Given the description of an element on the screen output the (x, y) to click on. 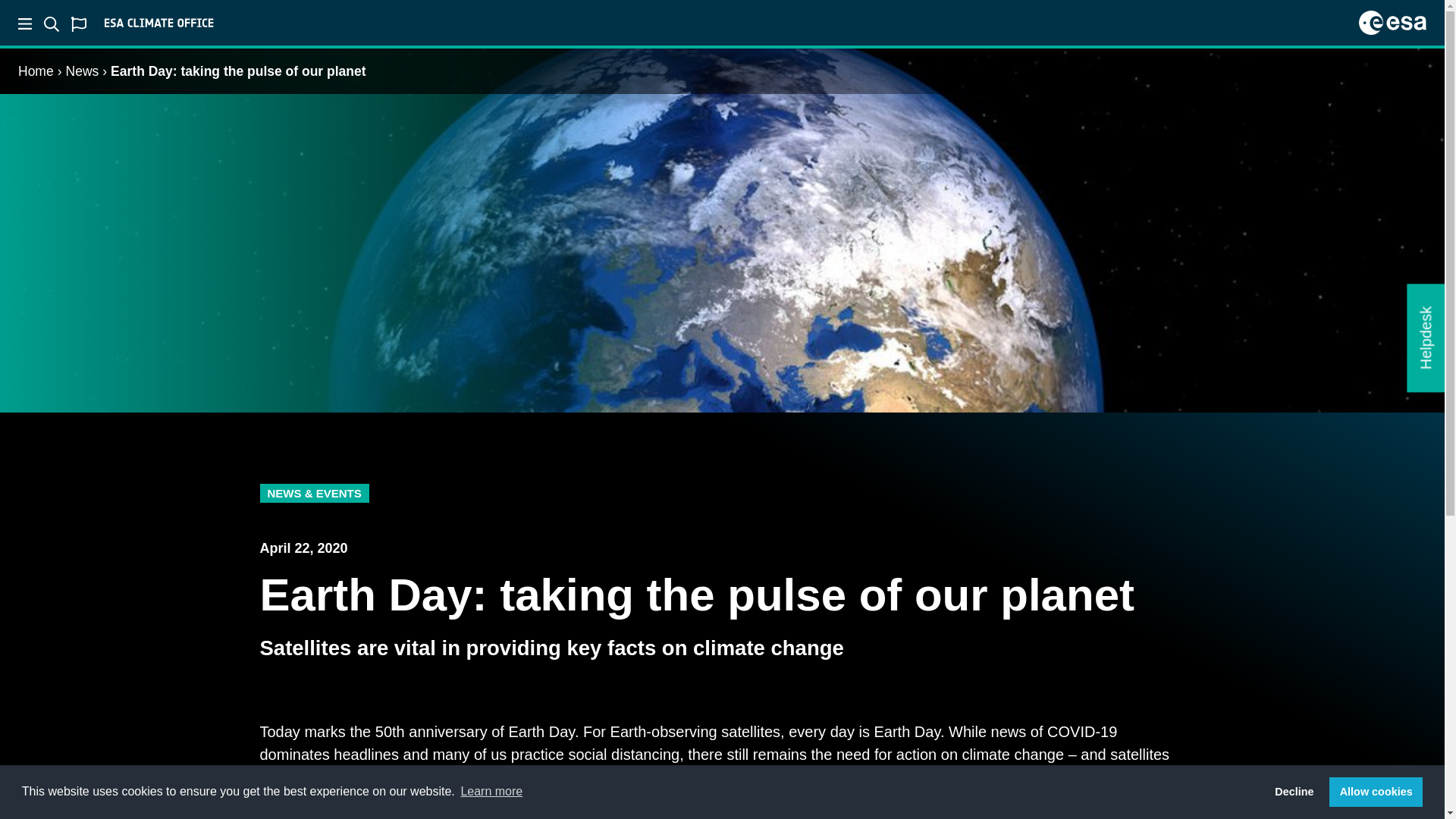
Earth Day: taking the pulse of our planet (237, 70)
Allow cookies (1375, 791)
News (82, 70)
Decline (1294, 791)
Home (35, 70)
Learn more (491, 791)
